Given the description of an element on the screen output the (x, y) to click on. 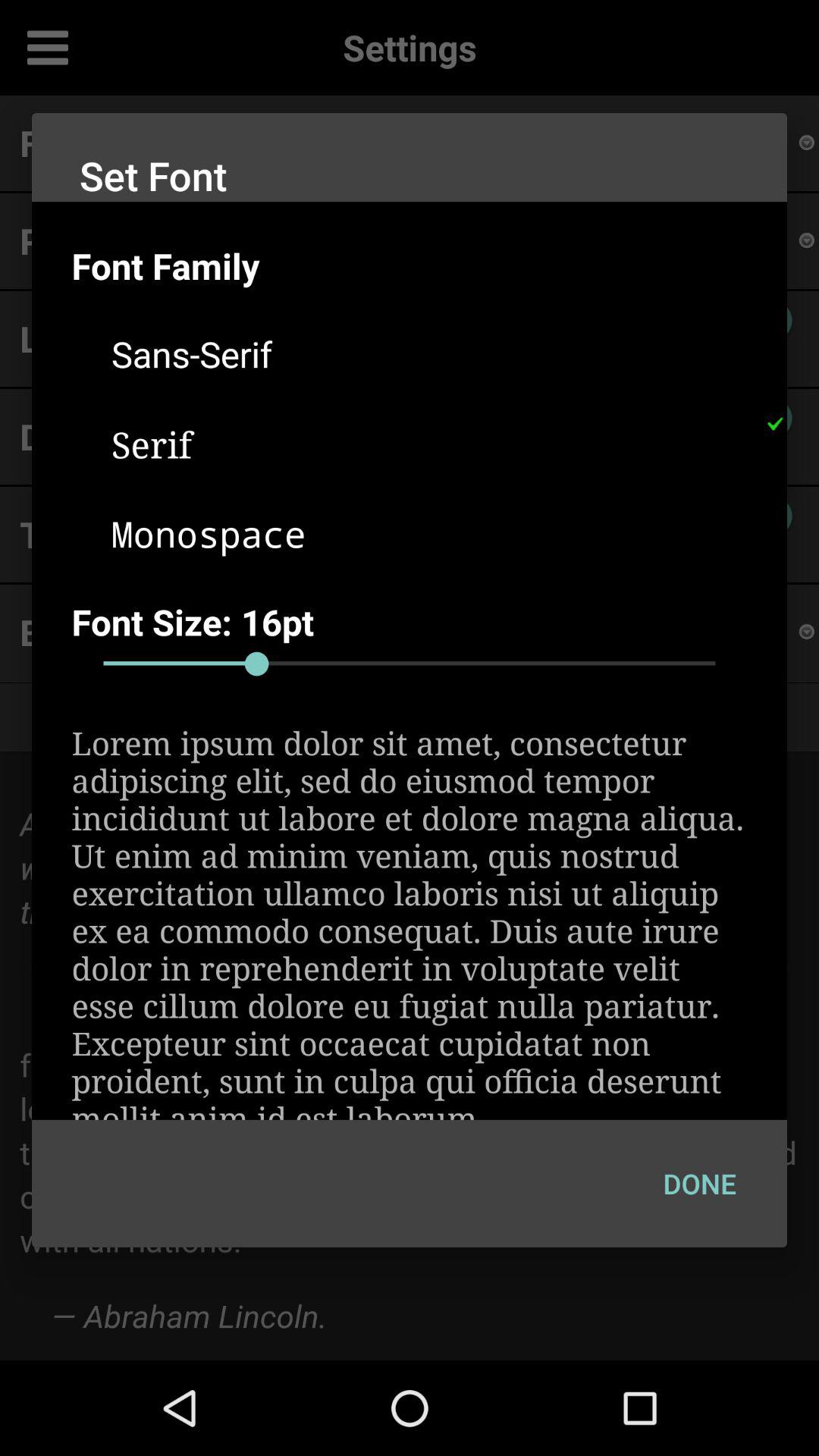
jump until font size: 16pt (429, 621)
